Given the description of an element on the screen output the (x, y) to click on. 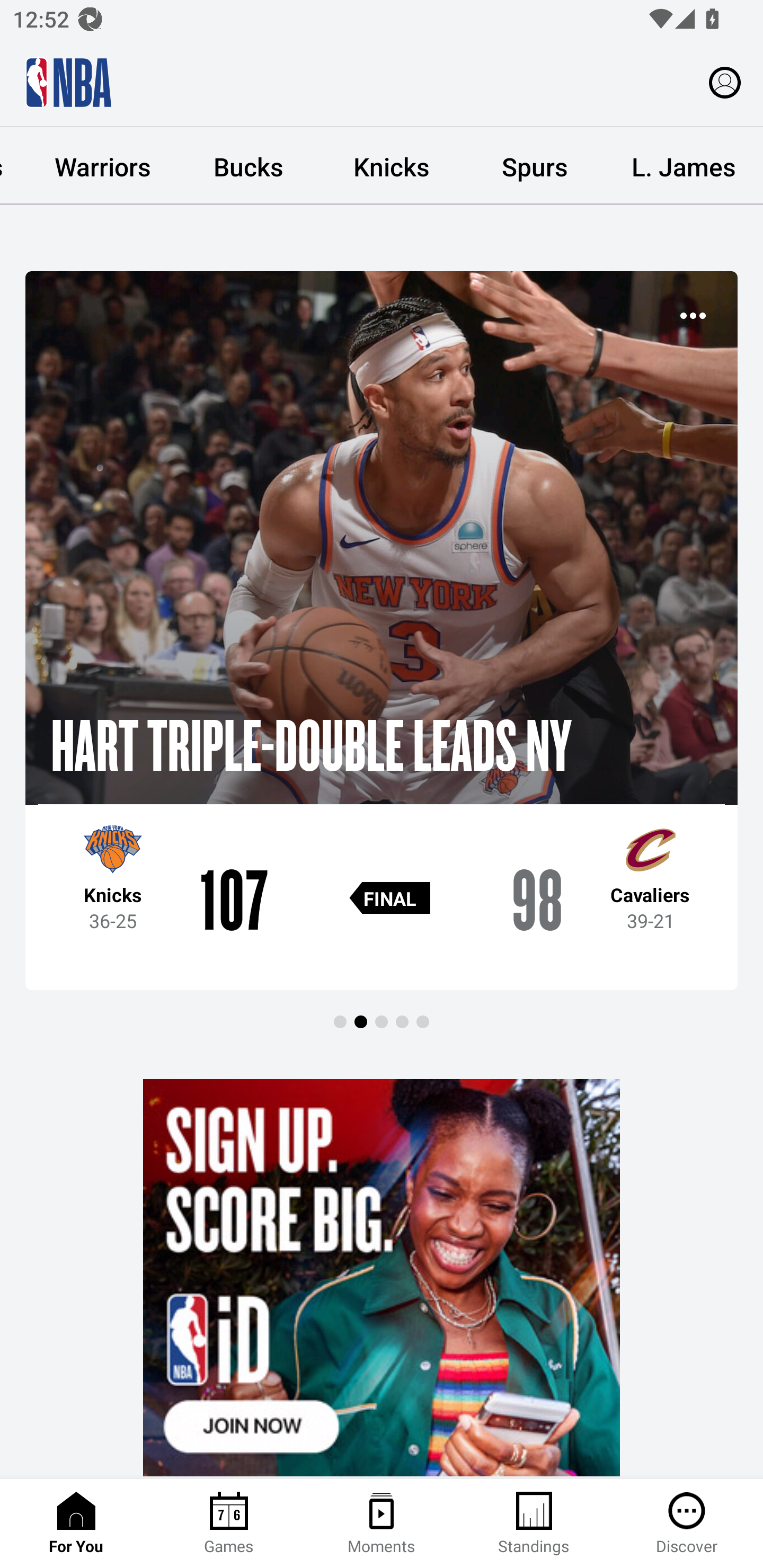
Profile (724, 81)
Warriors (102, 166)
Bucks (248, 166)
Knicks (391, 166)
Spurs (534, 166)
L. James (683, 166)
Games (228, 1523)
Moments (381, 1523)
Standings (533, 1523)
Discover (686, 1523)
